Given the description of an element on the screen output the (x, y) to click on. 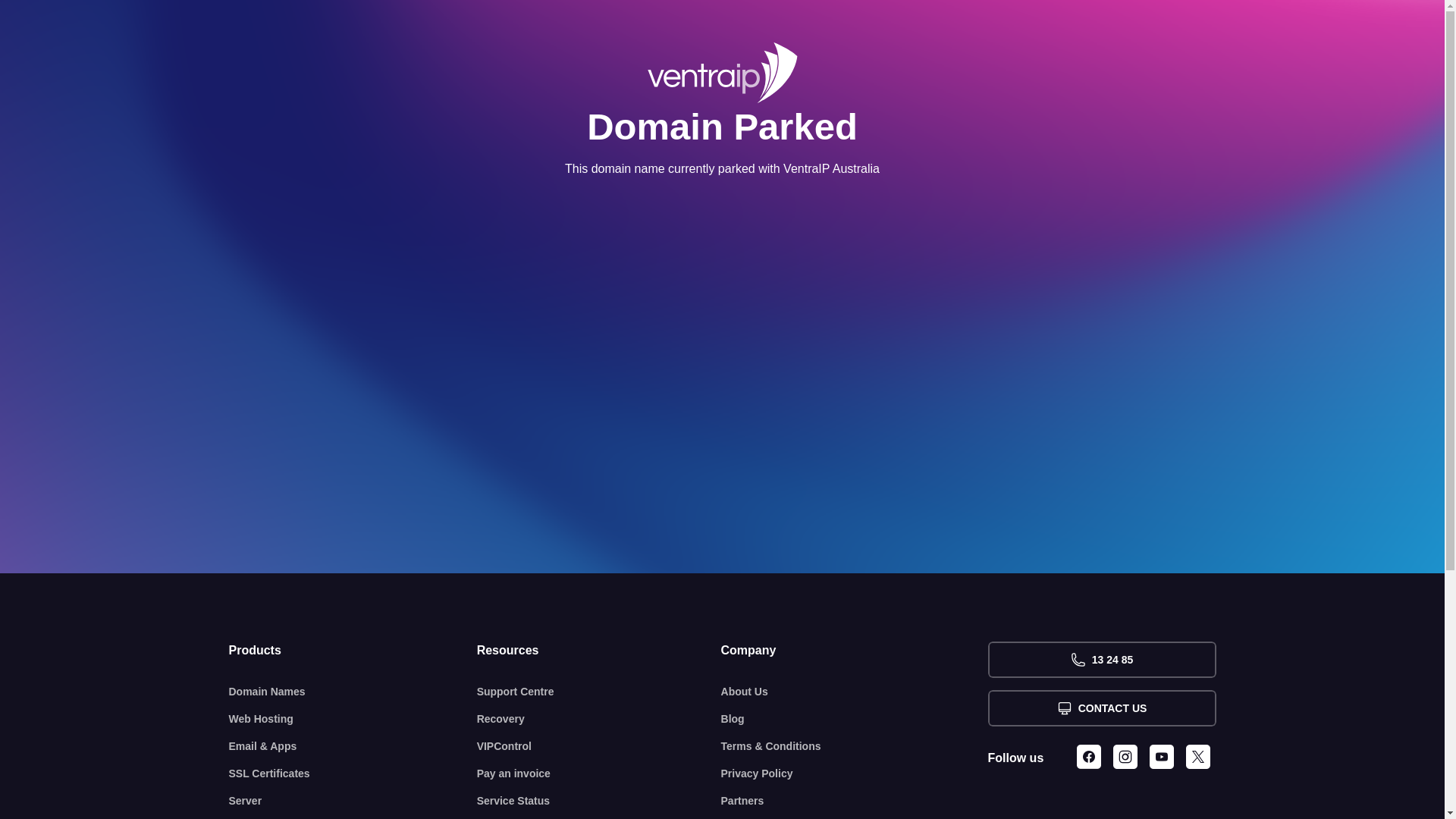
Recovery Element type: text (598, 718)
Web Hosting Element type: text (352, 718)
Partners Element type: text (854, 800)
CONTACT US Element type: text (1101, 708)
Pay an invoice Element type: text (598, 773)
Service Status Element type: text (598, 800)
SSL Certificates Element type: text (352, 773)
Support Centre Element type: text (598, 691)
About Us Element type: text (854, 691)
Domain Names Element type: text (352, 691)
Privacy Policy Element type: text (854, 773)
Server Element type: text (352, 800)
Email & Apps Element type: text (352, 745)
Blog Element type: text (854, 718)
Terms & Conditions Element type: text (854, 745)
13 24 85 Element type: text (1101, 659)
VIPControl Element type: text (598, 745)
